Given the description of an element on the screen output the (x, y) to click on. 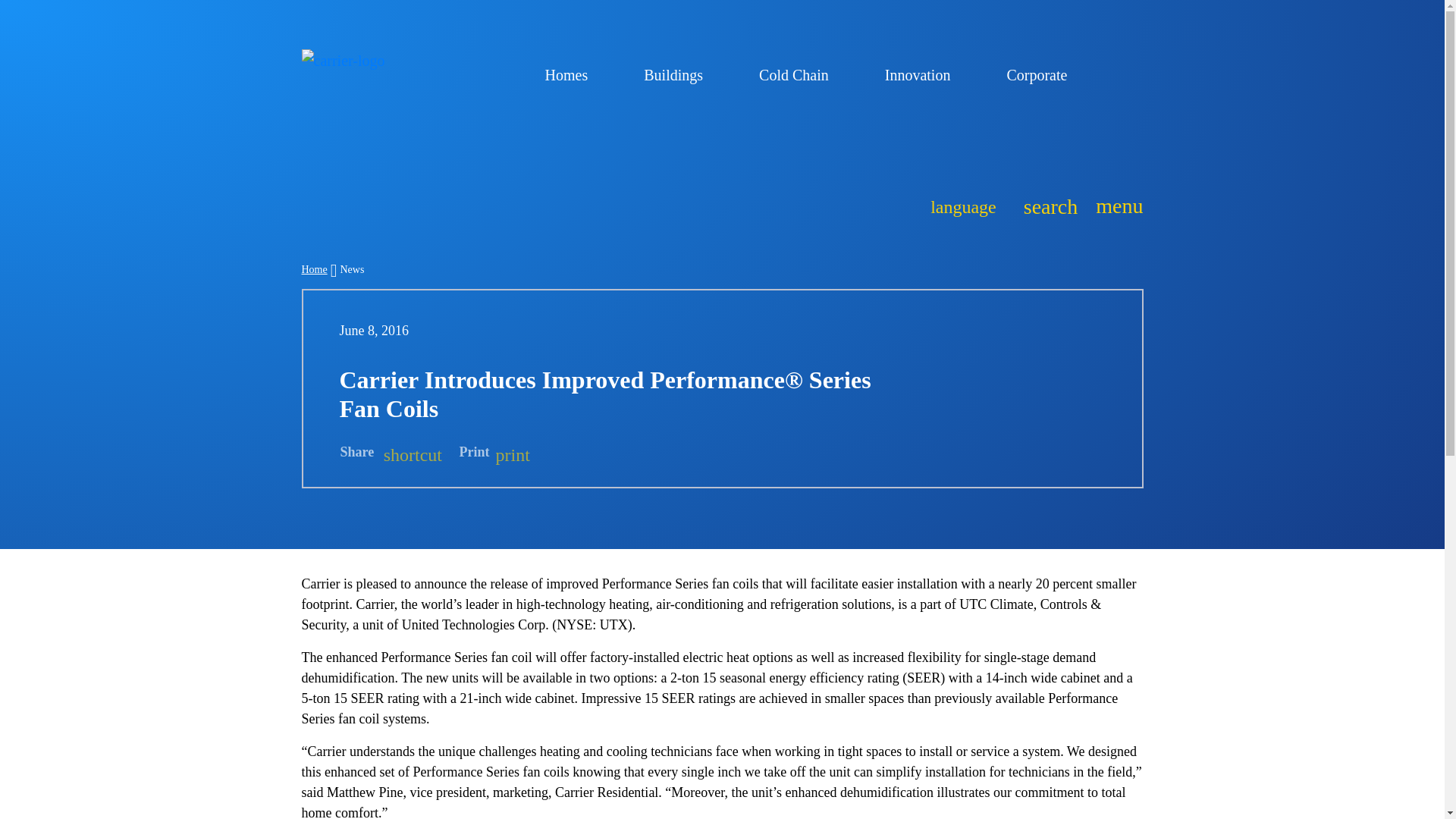
Homes (573, 74)
search (1046, 205)
Share shortcut (391, 452)
language (1114, 206)
Buildings (962, 205)
Printprint (680, 74)
Corporate (494, 452)
Cold Chain (1043, 74)
Home (800, 74)
Innovation (314, 268)
